Given the description of an element on the screen output the (x, y) to click on. 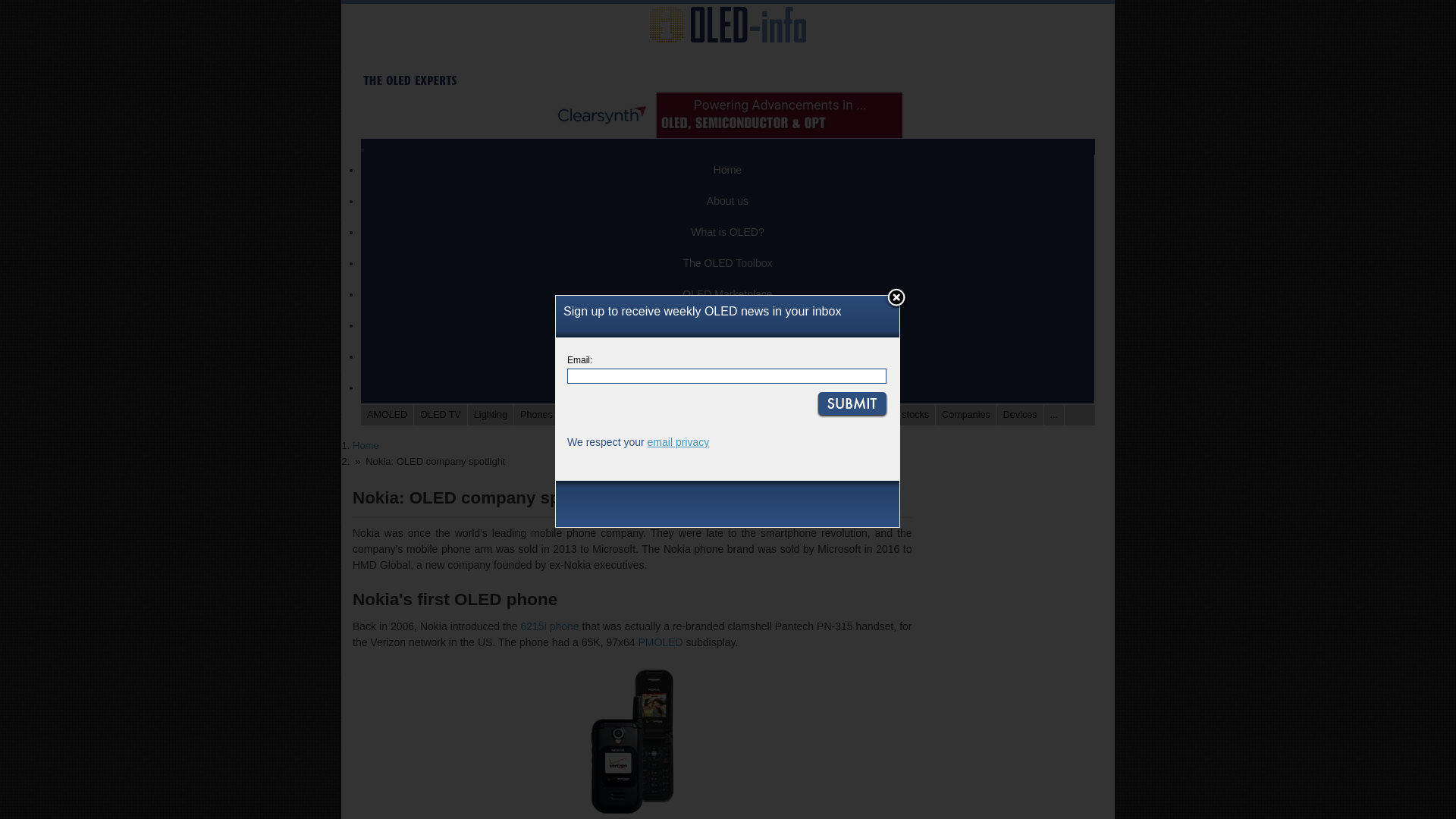
Monitors (673, 414)
PMOLED (659, 642)
OLED TV (440, 414)
More (727, 387)
Companies (966, 414)
OLED stocks (901, 414)
MicroLED-Info.com (727, 356)
AMOLED (387, 414)
Advertise here (727, 325)
Lighting (490, 414)
The OLED Toolbox (727, 263)
Phones (536, 414)
MicroLED-Info (727, 356)
... (1054, 414)
The latest OLED laptops (583, 414)
